Given the description of an element on the screen output the (x, y) to click on. 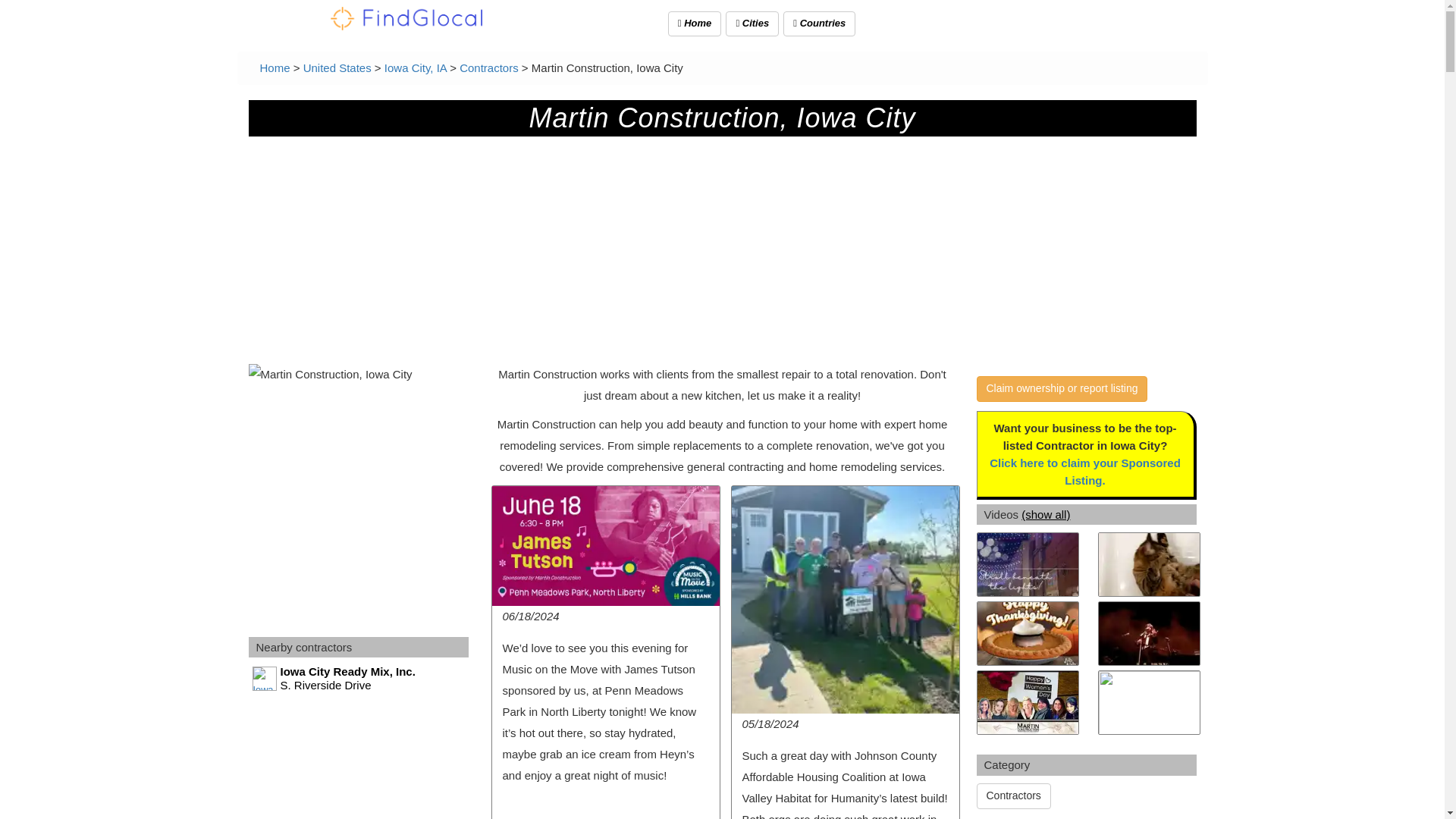
Iowa City, IA (415, 67)
Cities (751, 23)
United States (336, 67)
Click here to claim your Sponsored Listing. (1085, 471)
Home (694, 23)
Home (274, 67)
Home (274, 67)
Countries (358, 679)
Contractors (819, 23)
